Given the description of an element on the screen output the (x, y) to click on. 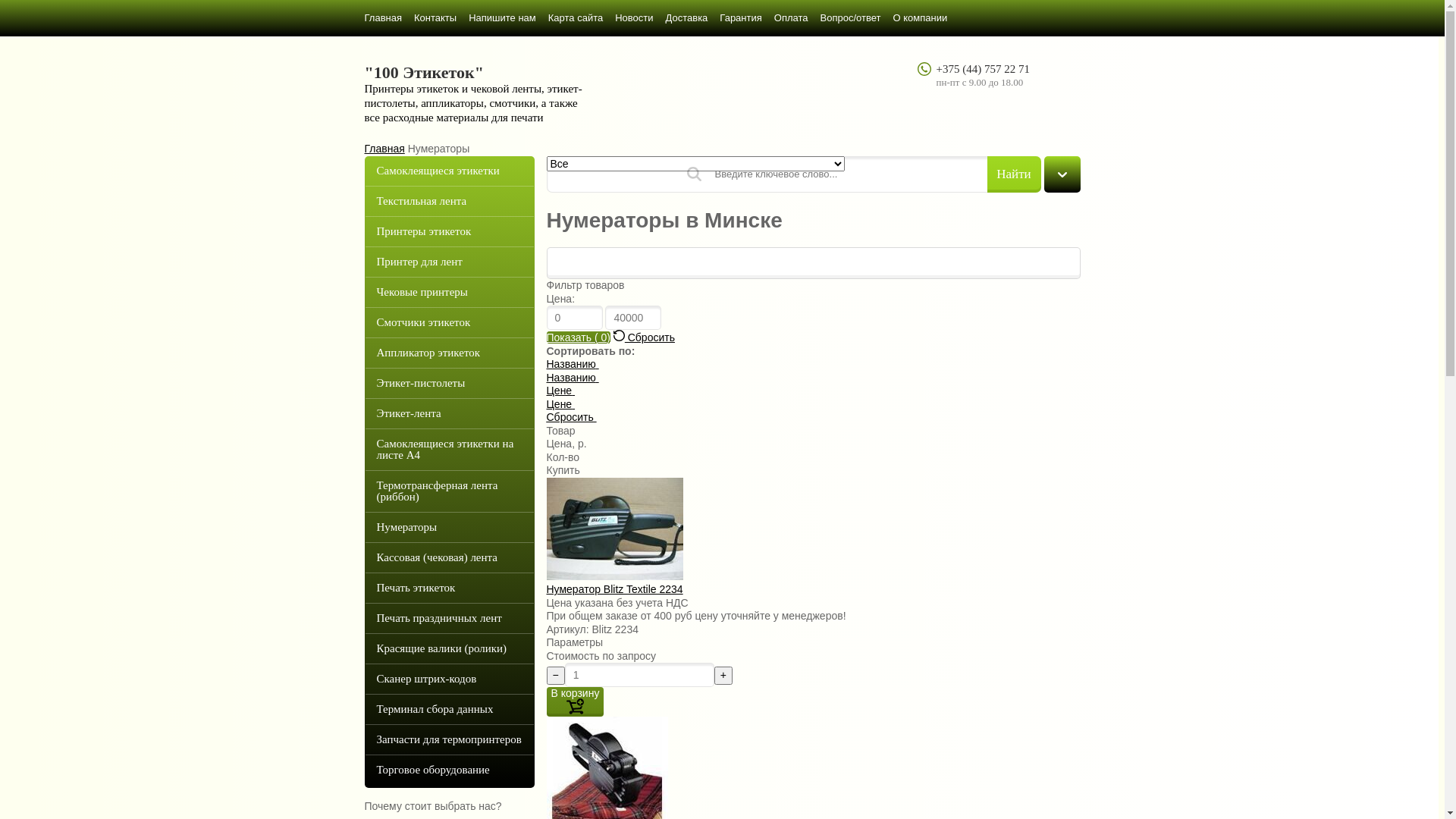
+375 (44) 757 22 71 Element type: text (982, 68)
+ Element type: text (723, 675)
